Given the description of an element on the screen output the (x, y) to click on. 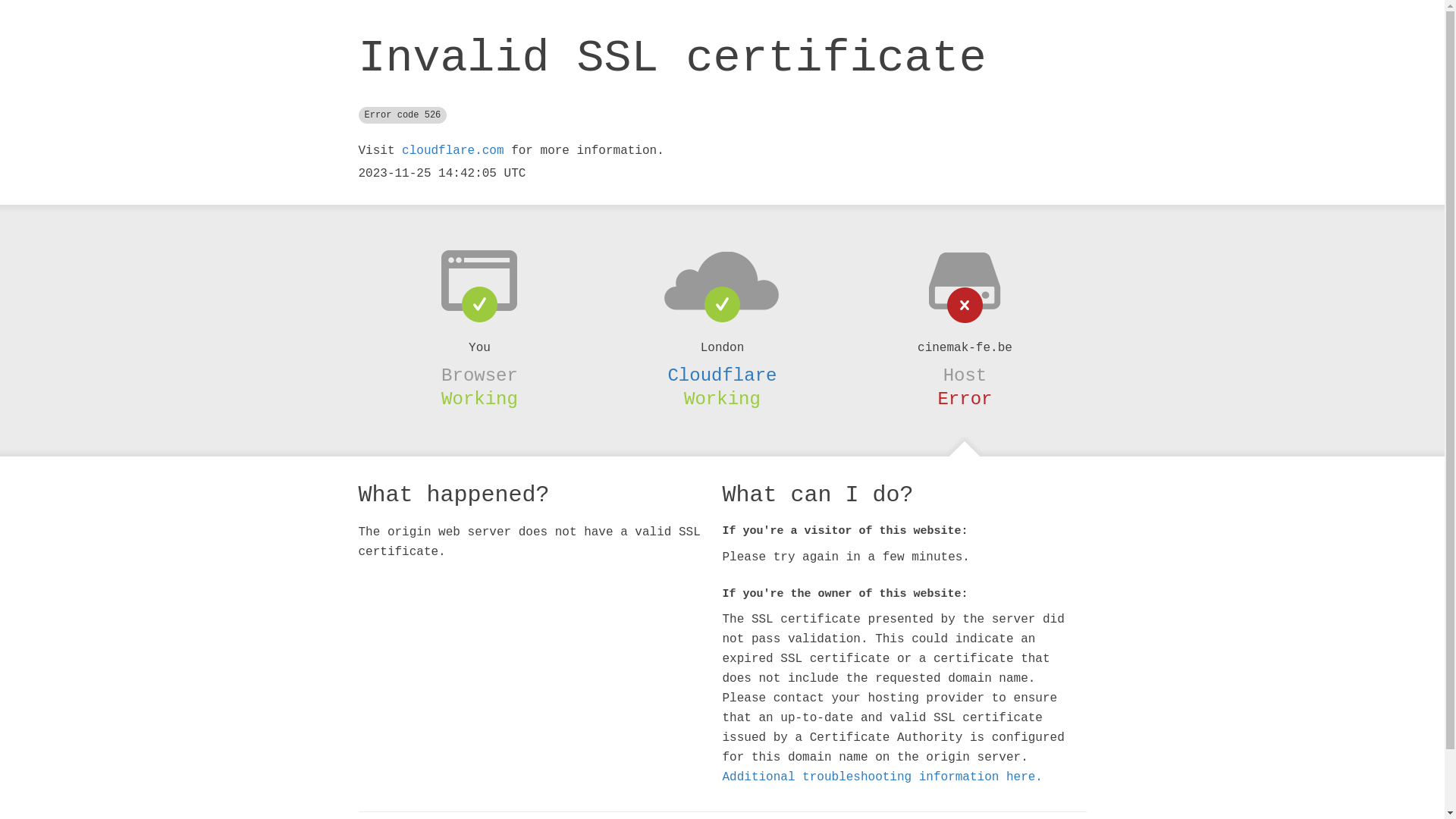
Cloudflare Element type: text (721, 375)
Additional troubleshooting information here. Element type: text (881, 777)
cloudflare.com Element type: text (452, 150)
